Given the description of an element on the screen output the (x, y) to click on. 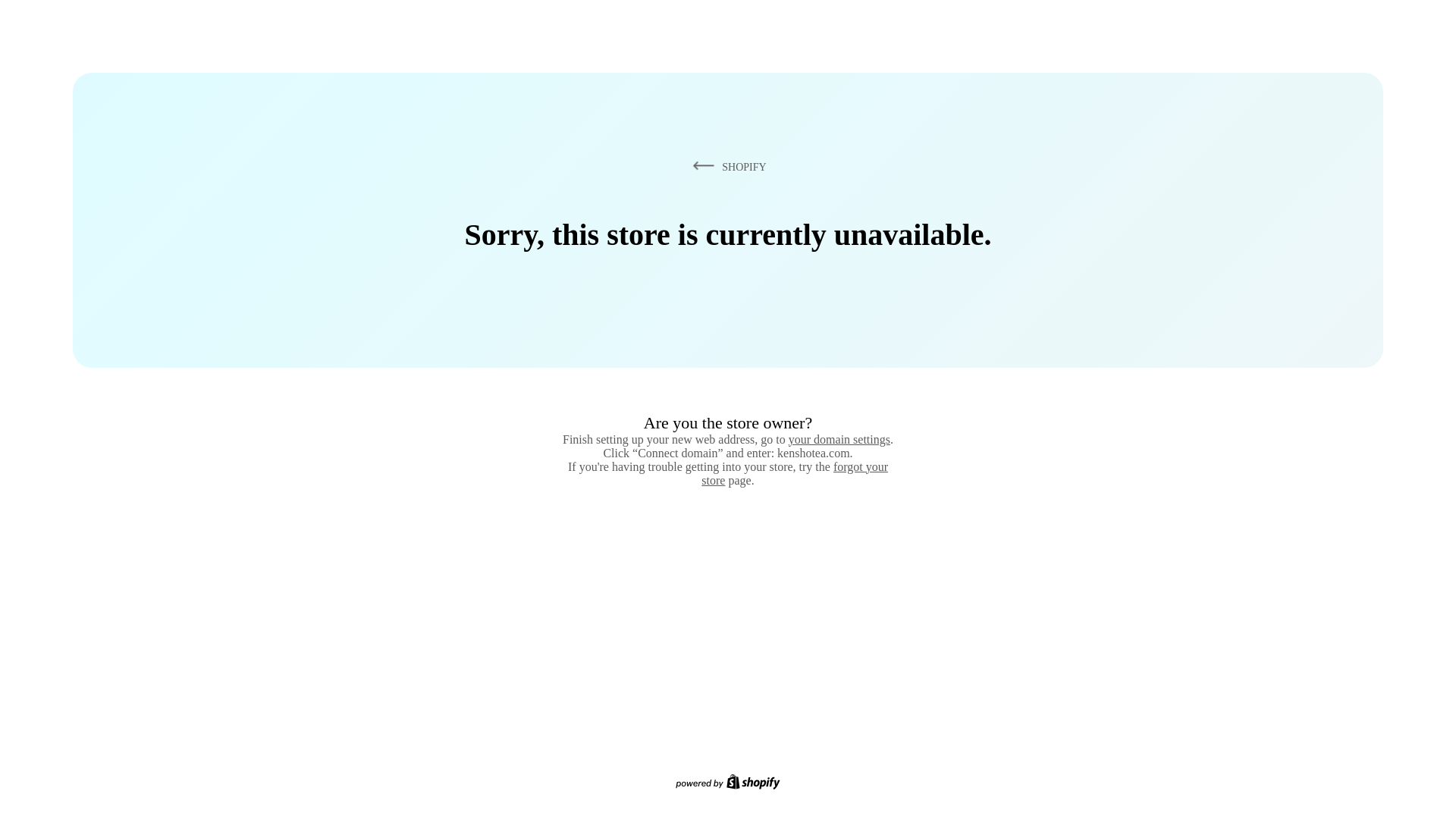
your domain settings (839, 439)
SHOPIFY (726, 166)
forgot your store (794, 473)
